Given the description of an element on the screen output the (x, y) to click on. 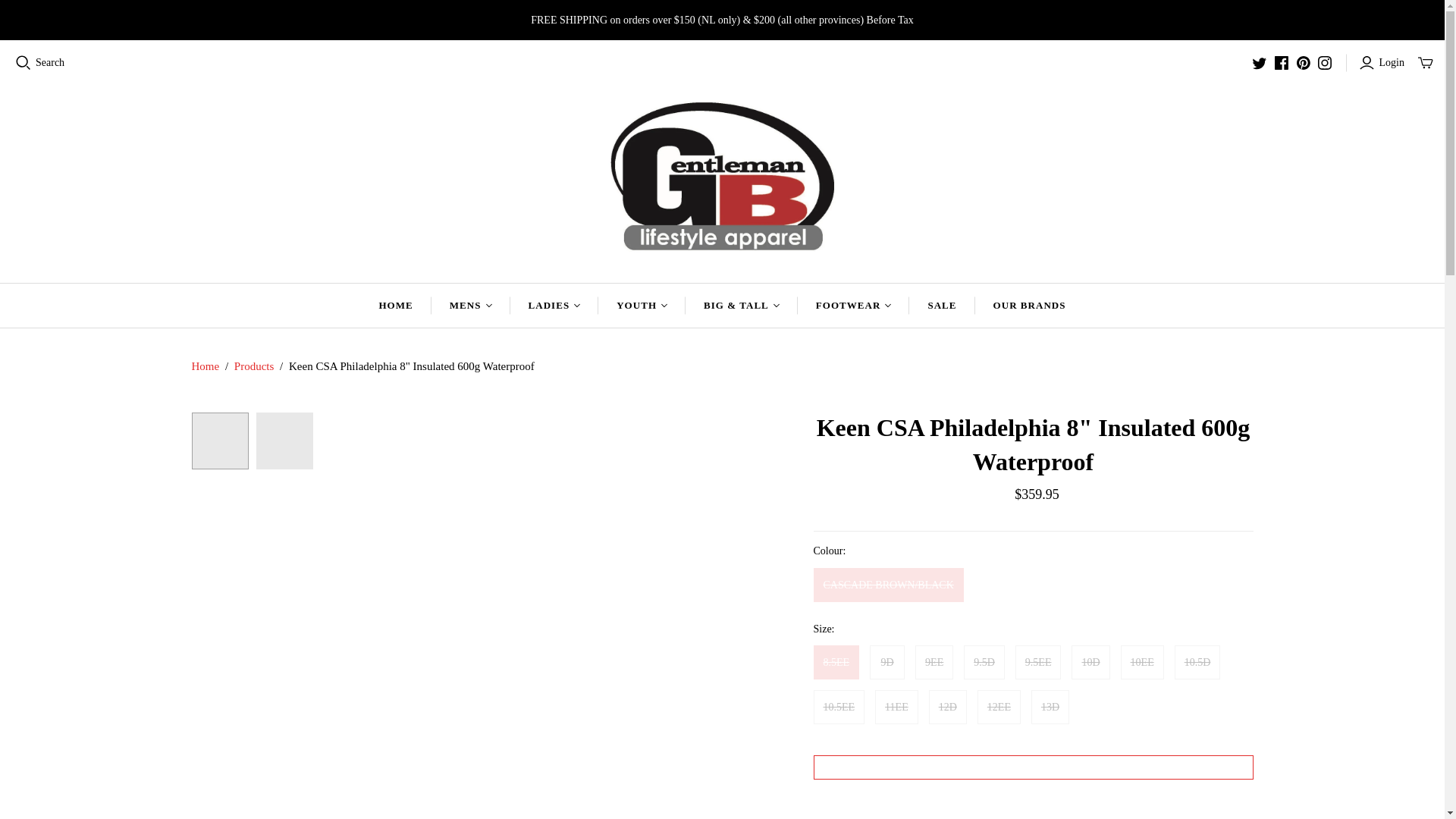
Login (1383, 62)
LADIES (553, 305)
YOUTH (641, 305)
MENS (470, 305)
FOOTWEAR (853, 305)
HOME (394, 305)
